Given the description of an element on the screen output the (x, y) to click on. 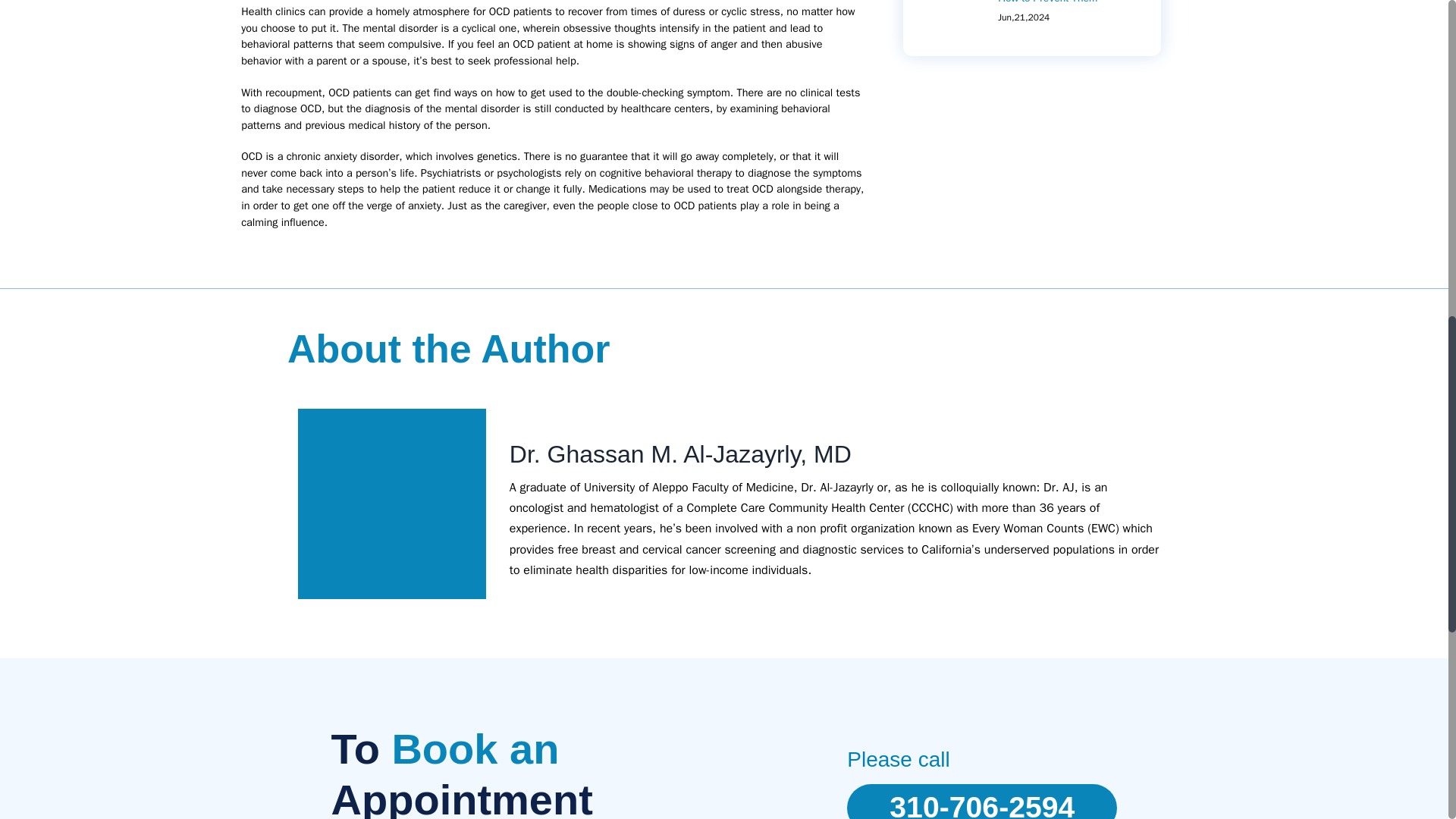
When to See a Podiatrist for Foot and Ankle Pain (1328, 4)
